Given the description of an element on the screen output the (x, y) to click on. 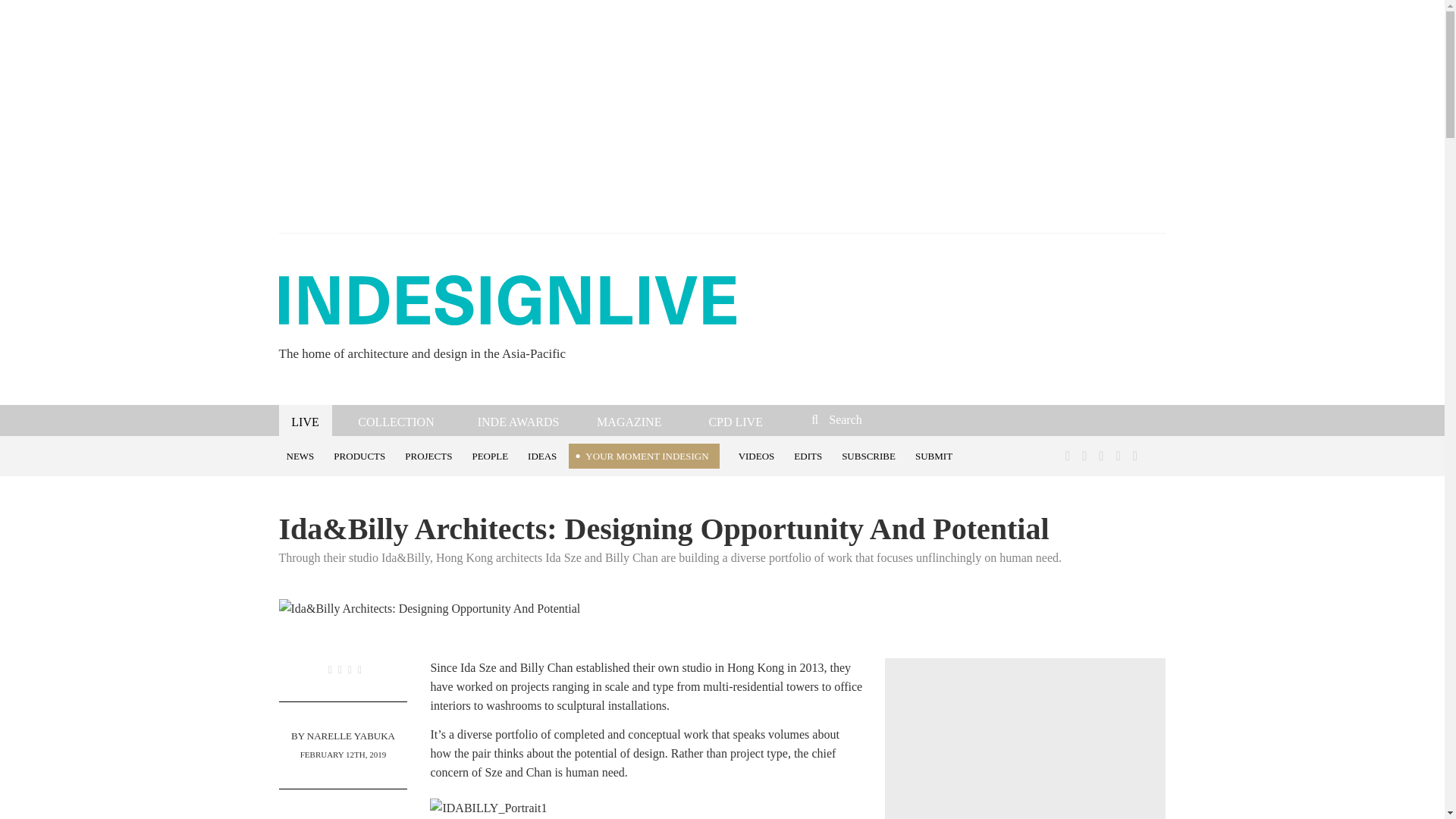
SUBMIT (935, 455)
PEOPLE (491, 455)
EDITS (810, 455)
NEWS (302, 455)
IDEAS (544, 455)
PRODUCTS (361, 455)
VIDEOS (758, 455)
YOUR MOMENT INDESIGN (644, 455)
Posts by Narelle Yabuka (350, 736)
